Given the description of an element on the screen output the (x, y) to click on. 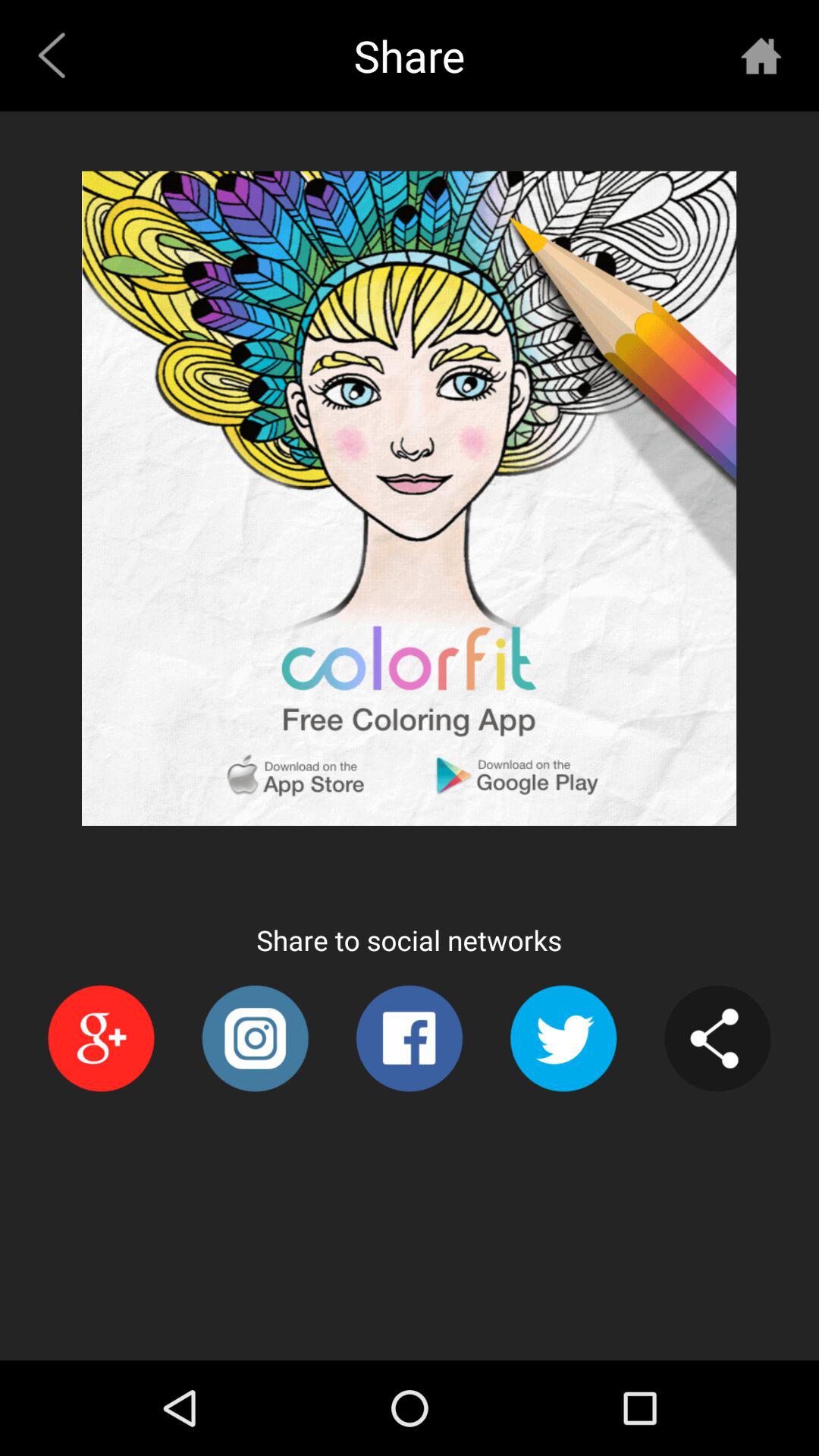
facebook app (409, 1038)
